Given the description of an element on the screen output the (x, y) to click on. 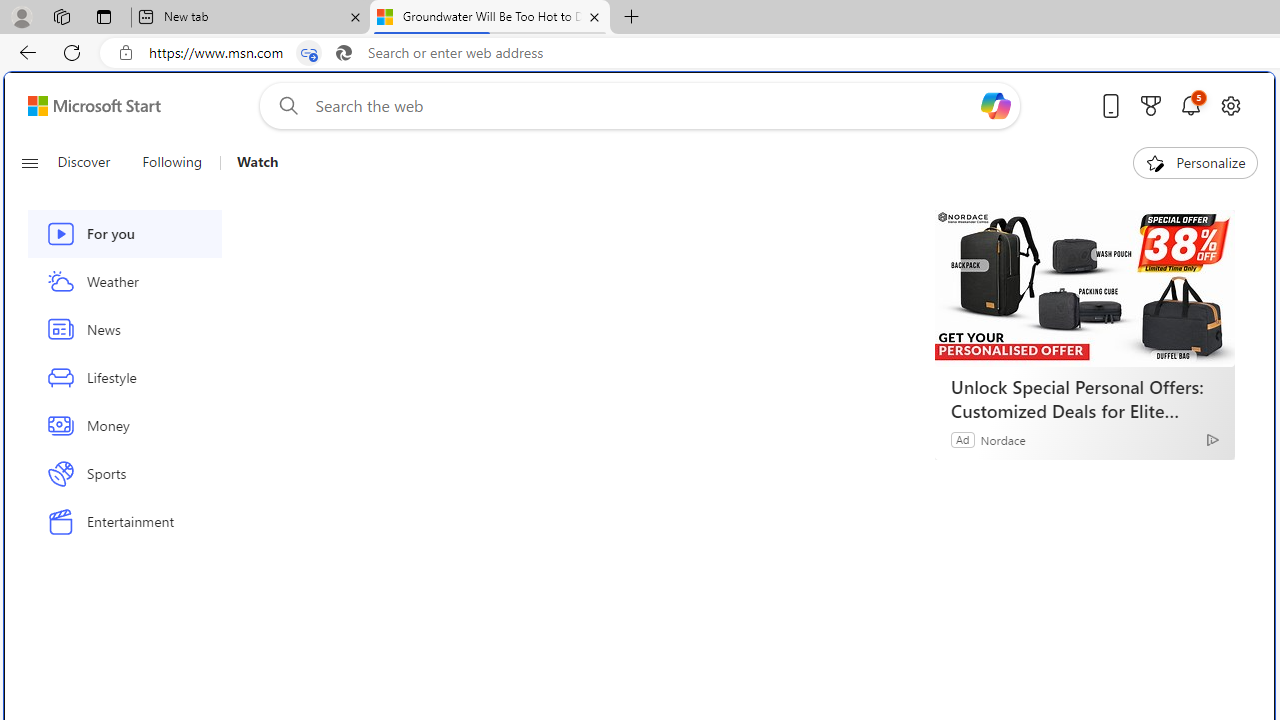
Watch (257, 162)
Notifications (1190, 105)
Watch (249, 162)
Enter your search term (644, 106)
Web search (283, 105)
Tabs in split screen (308, 53)
Open settings (1230, 105)
